Given the description of an element on the screen output the (x, y) to click on. 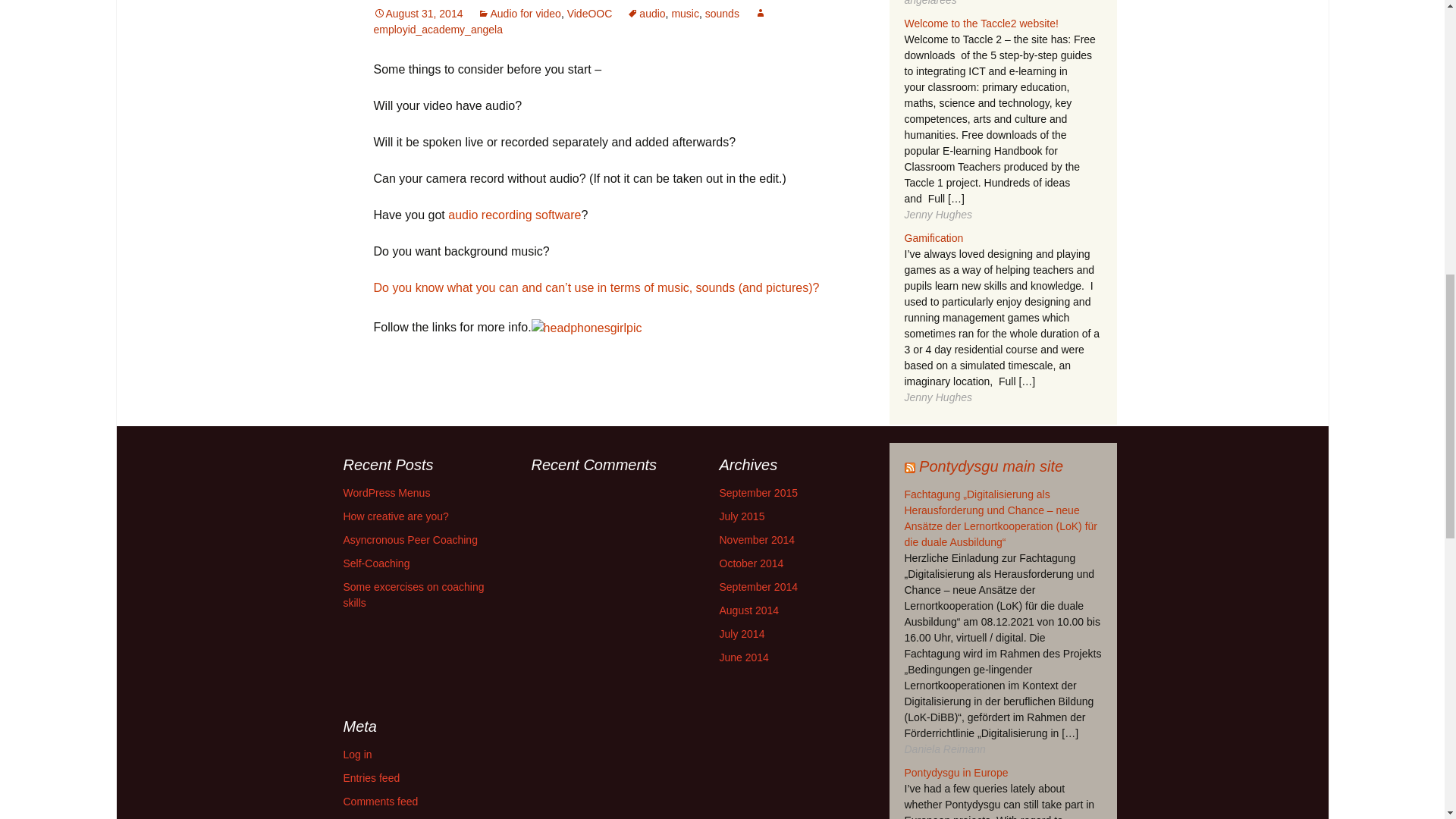
August 31, 2014 (417, 13)
creative commons (595, 287)
Permalink to Planning your audio (417, 13)
Audio for video (518, 13)
